Given the description of an element on the screen output the (x, y) to click on. 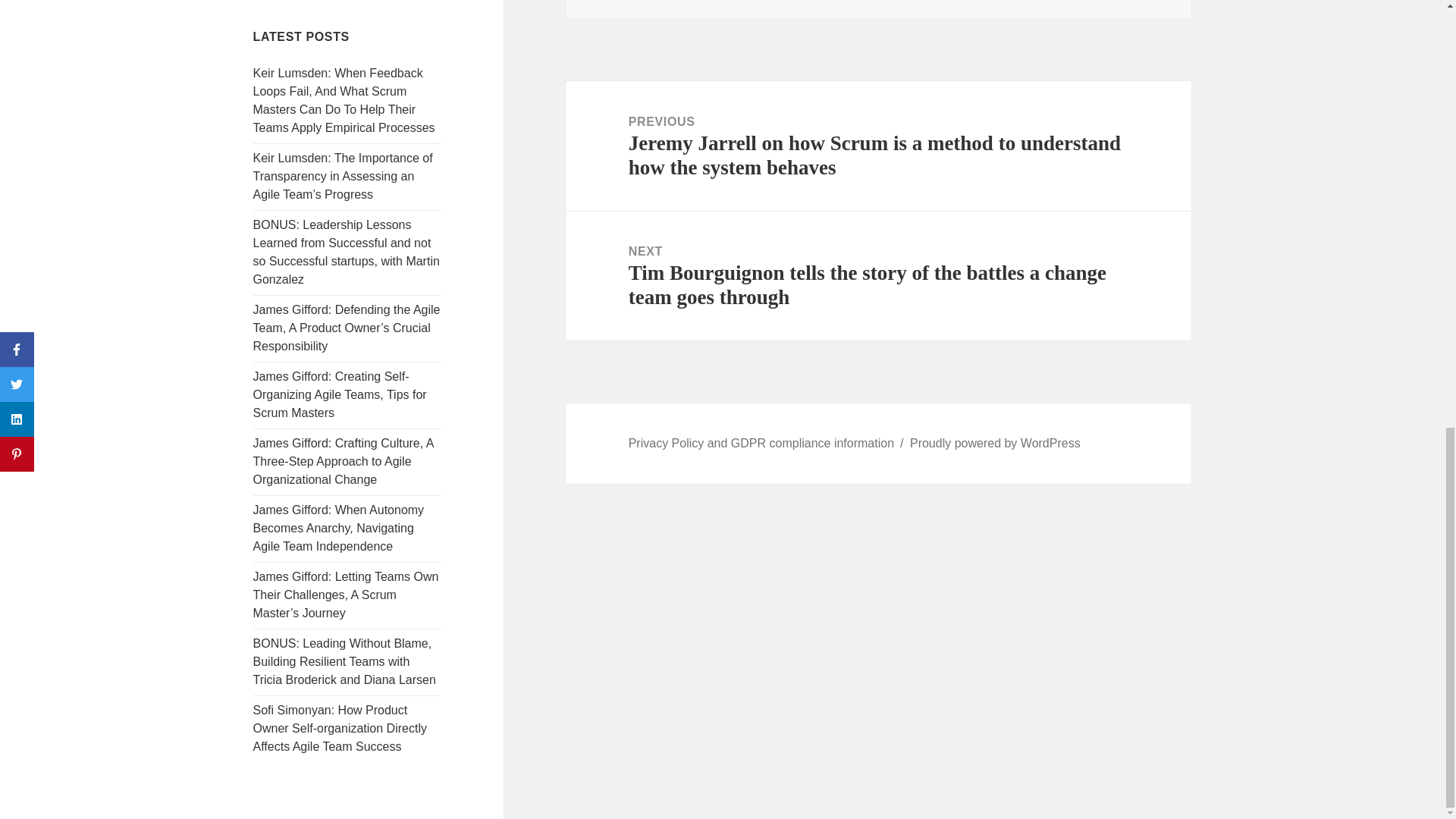
Privacy Policy and GDPR compliance information (760, 443)
Proudly powered by WordPress (995, 443)
